Given the description of an element on the screen output the (x, y) to click on. 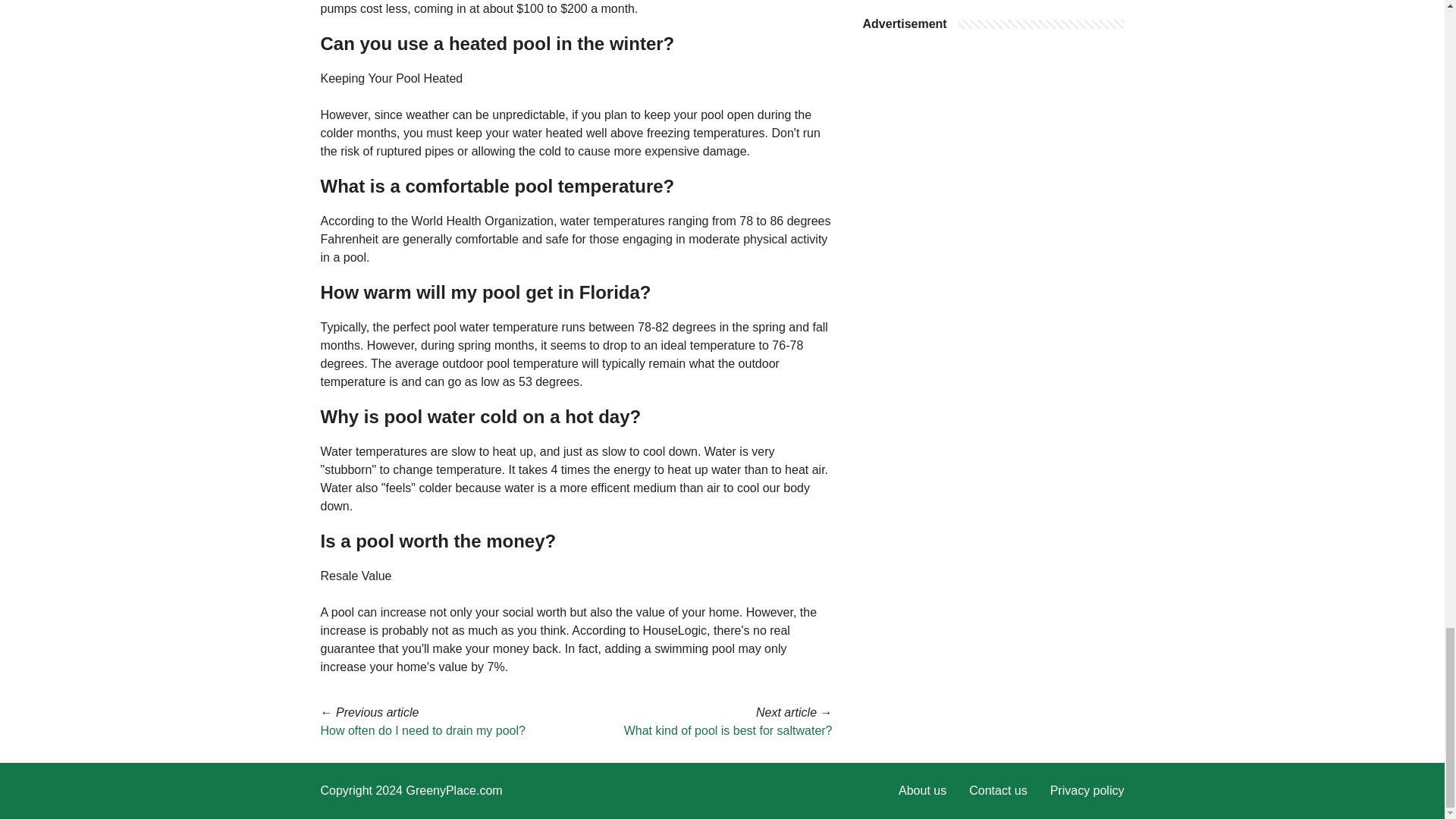
How often do I need to drain my pool? (422, 730)
What kind of pool is best for saltwater? (728, 730)
